Given the description of an element on the screen output the (x, y) to click on. 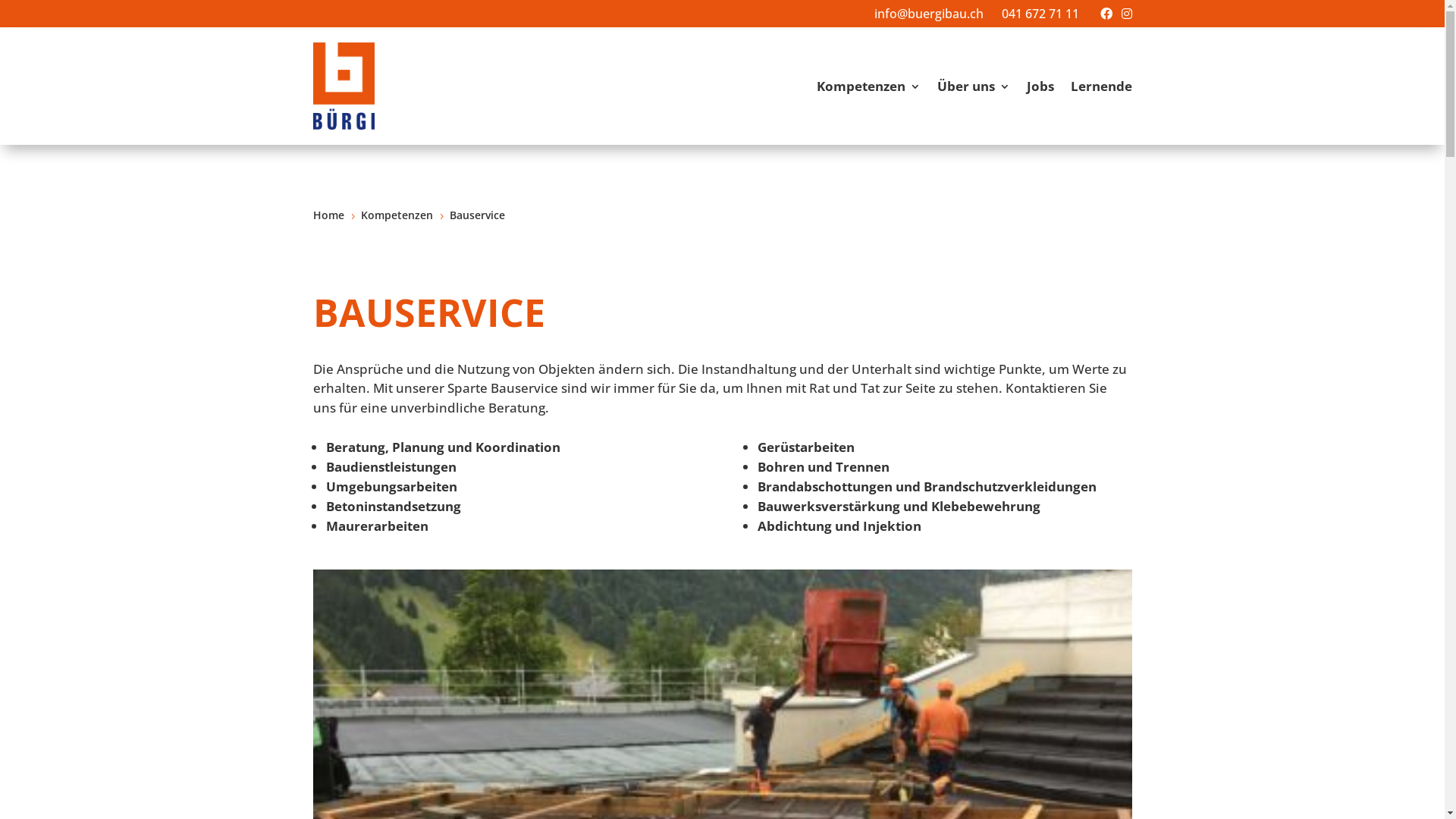
Kompetenzen Element type: text (396, 214)
Home Element type: text (327, 214)
Jobs Element type: text (1040, 85)
Lernende Element type: text (1101, 85)
info@buergibau.ch Element type: text (927, 13)
041 672 71 11 Element type: text (1039, 13)
Kompetenzen Element type: text (867, 85)
